Given the description of an element on the screen output the (x, y) to click on. 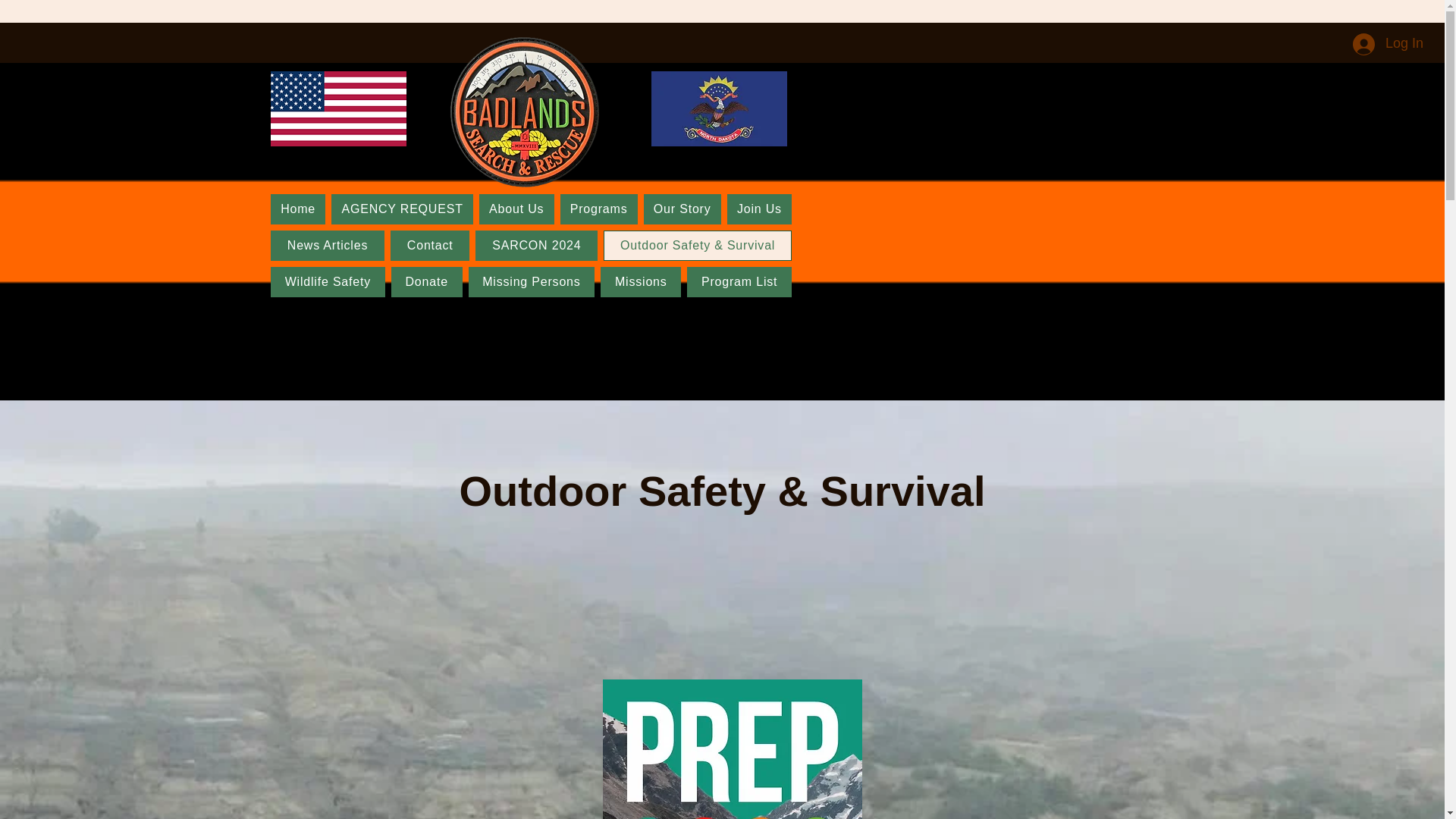
Join Us (759, 209)
Our Story (681, 209)
Programs (598, 209)
Home (297, 209)
About Us (516, 209)
Donate (427, 281)
News Articles (327, 245)
Wildlife Safety (327, 281)
Contact (429, 245)
Missing Persons (531, 281)
